Given the description of an element on the screen output the (x, y) to click on. 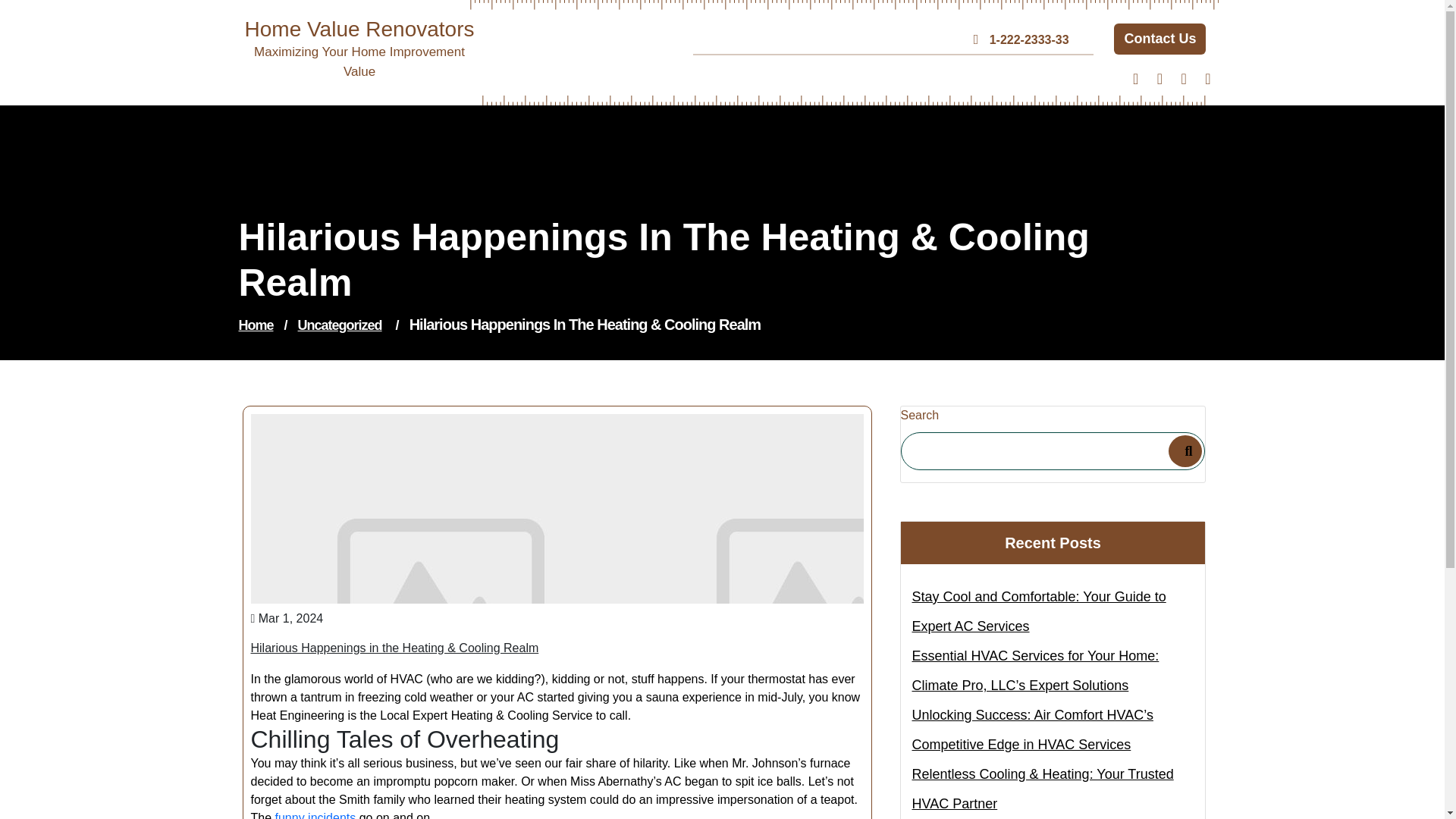
Uncategorized (339, 324)
Search (1185, 450)
1-222-2333-33 (1027, 39)
Stay Cool and Comfortable: Your Guide to Expert AC Services (1052, 611)
Home (255, 324)
Home Value Renovators (359, 28)
Contact Us (1159, 38)
funny incidents (315, 815)
